Given the description of an element on the screen output the (x, y) to click on. 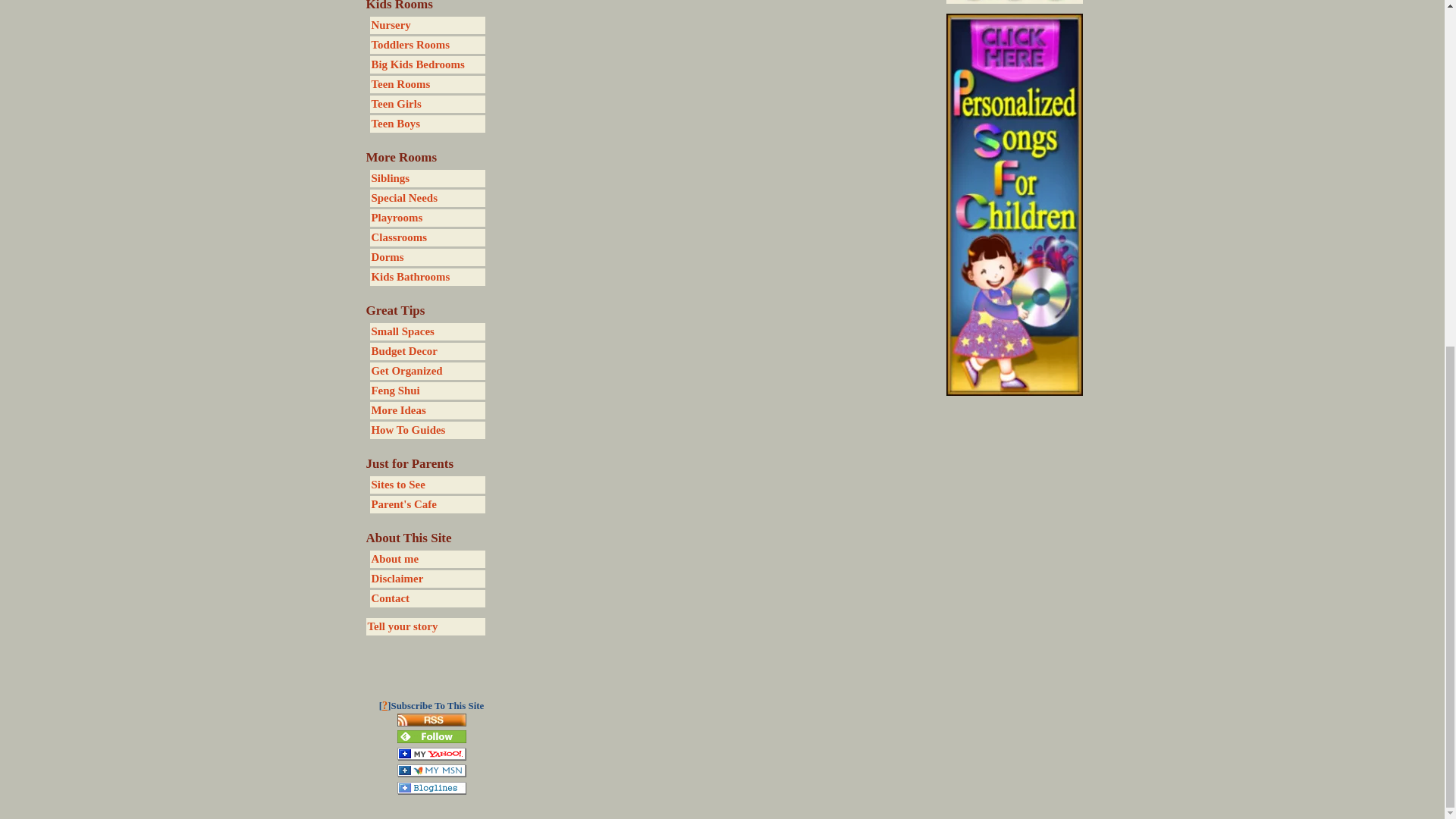
Budget Decor (426, 351)
Parent's Cafe (426, 504)
Teen Boys (426, 123)
Contact (426, 598)
Get Organized (426, 371)
About me (426, 559)
Teen Girls (426, 104)
Special Needs (426, 198)
Dorms (426, 257)
Kids Bathrooms (426, 276)
Siblings (426, 178)
Toddlers Rooms (426, 45)
More Ideas (426, 410)
Sites to See (426, 484)
Feng Shui (426, 390)
